Given the description of an element on the screen output the (x, y) to click on. 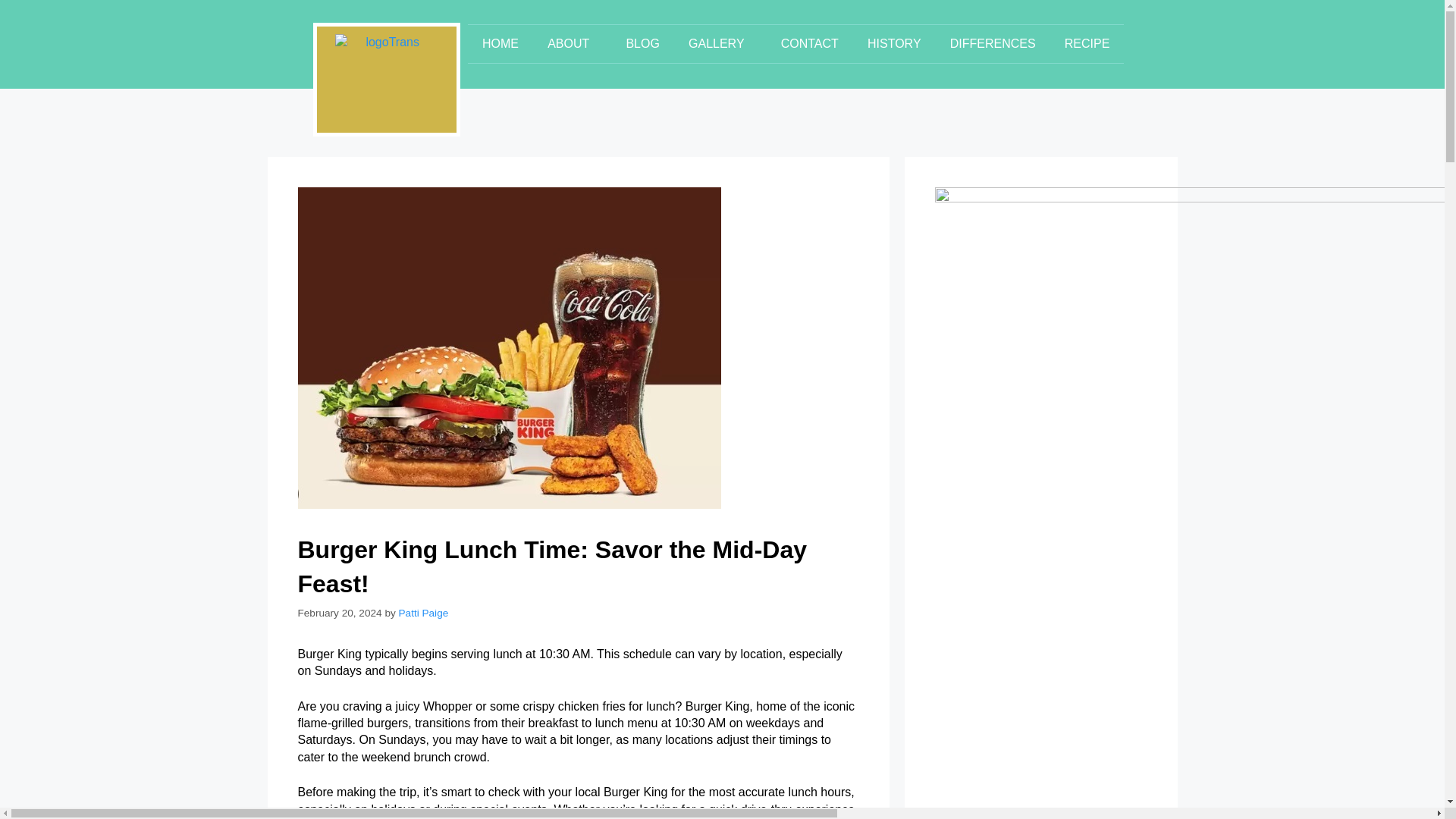
Patti Paige (423, 613)
ABOUT (571, 43)
CONTACT (810, 43)
GALLERY (720, 43)
HISTORY (894, 43)
BLOG (642, 43)
DIFFERENCES (992, 43)
HOME (499, 43)
RECIPE (1086, 43)
View all posts by Patti Paige (423, 613)
